Given the description of an element on the screen output the (x, y) to click on. 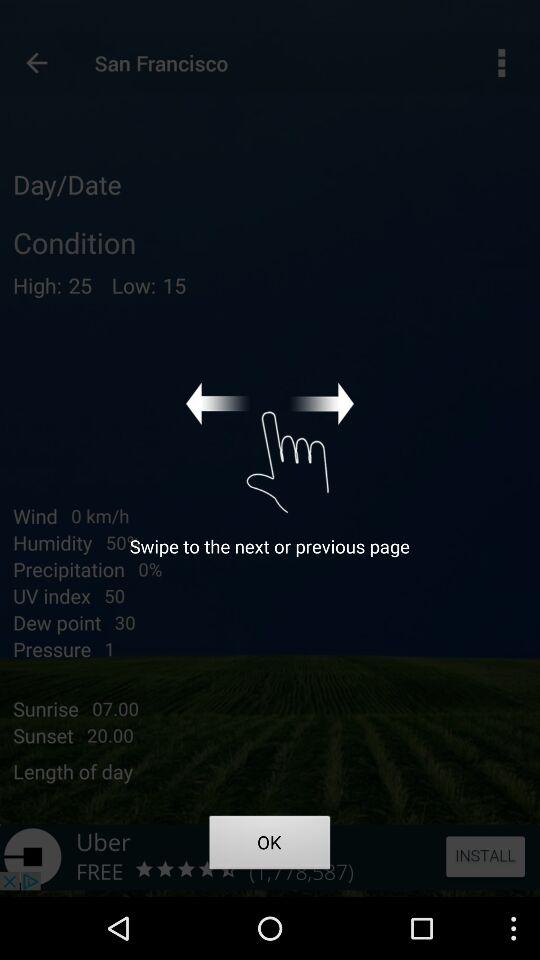
select item at the bottom (269, 845)
